Given the description of an element on the screen output the (x, y) to click on. 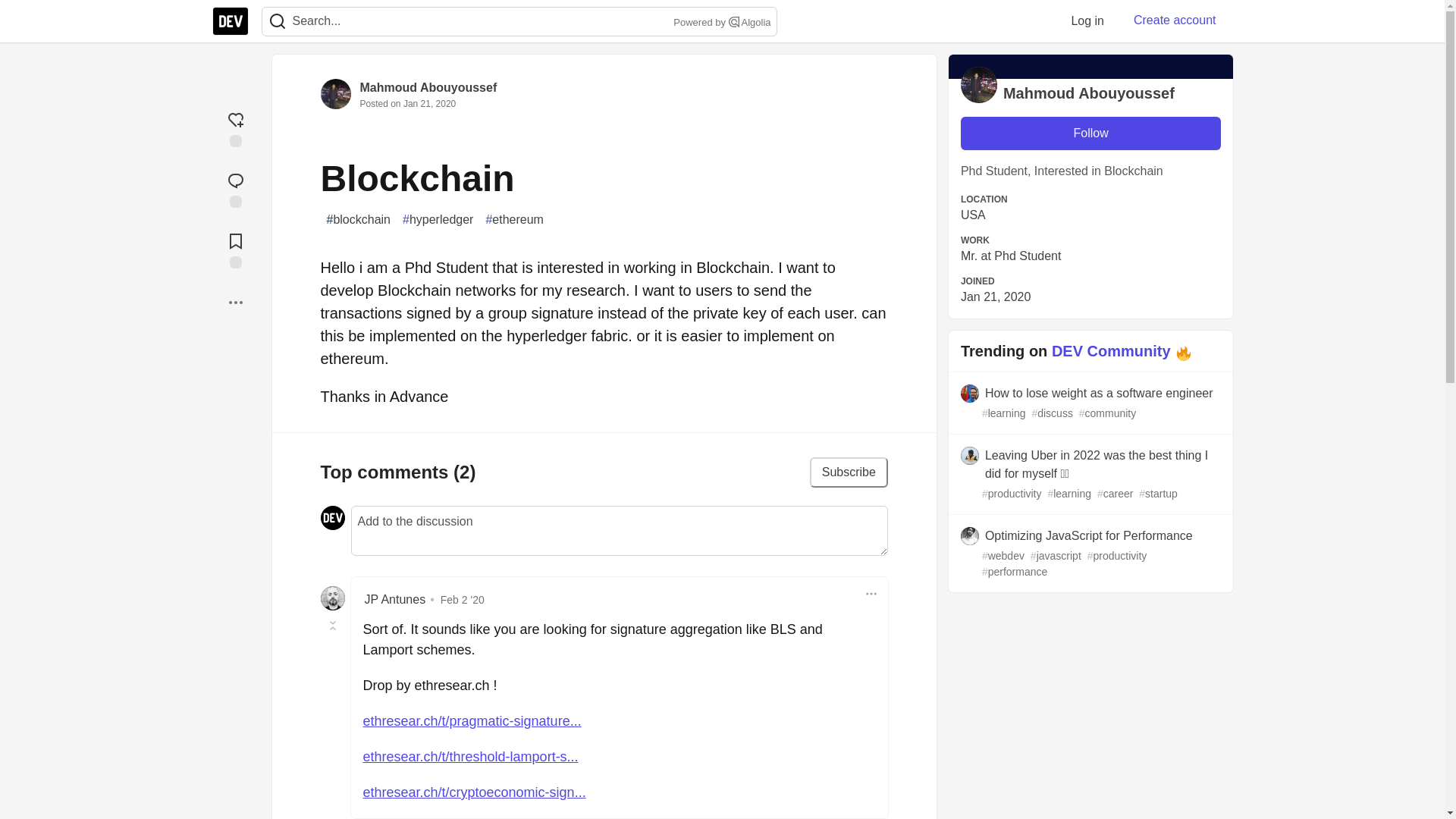
More... (234, 302)
Tuesday, January 21, 2020 at 1:35:05 PM (429, 103)
Hot (1183, 352)
Mahmoud Abouyoussef (427, 87)
Subscribe (848, 472)
Dropdown menu (870, 593)
Sunday, February 2, 2020 at 8:18:33 PM (462, 598)
Create account (1174, 20)
More... (234, 302)
Powered by Algolia (720, 22)
Log in (1087, 20)
